Given the description of an element on the screen output the (x, y) to click on. 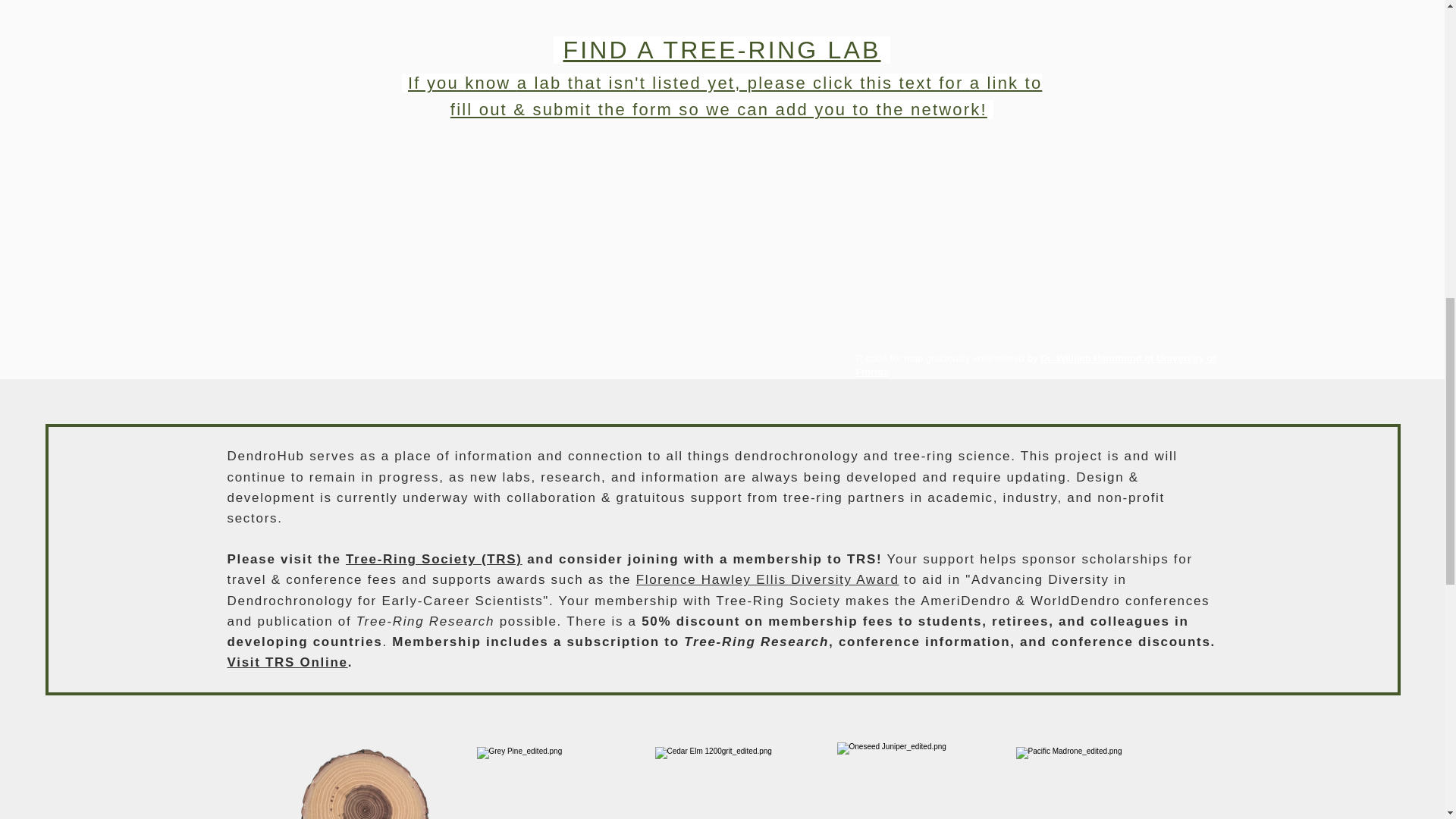
 FIND A TREE-RING LAB  (721, 49)
Dr. William Hammond of University of Florida (1035, 364)
 If you know (458, 82)
Florence Hawley Ellis Diversity Award (767, 579)
